Given the description of an element on the screen output the (x, y) to click on. 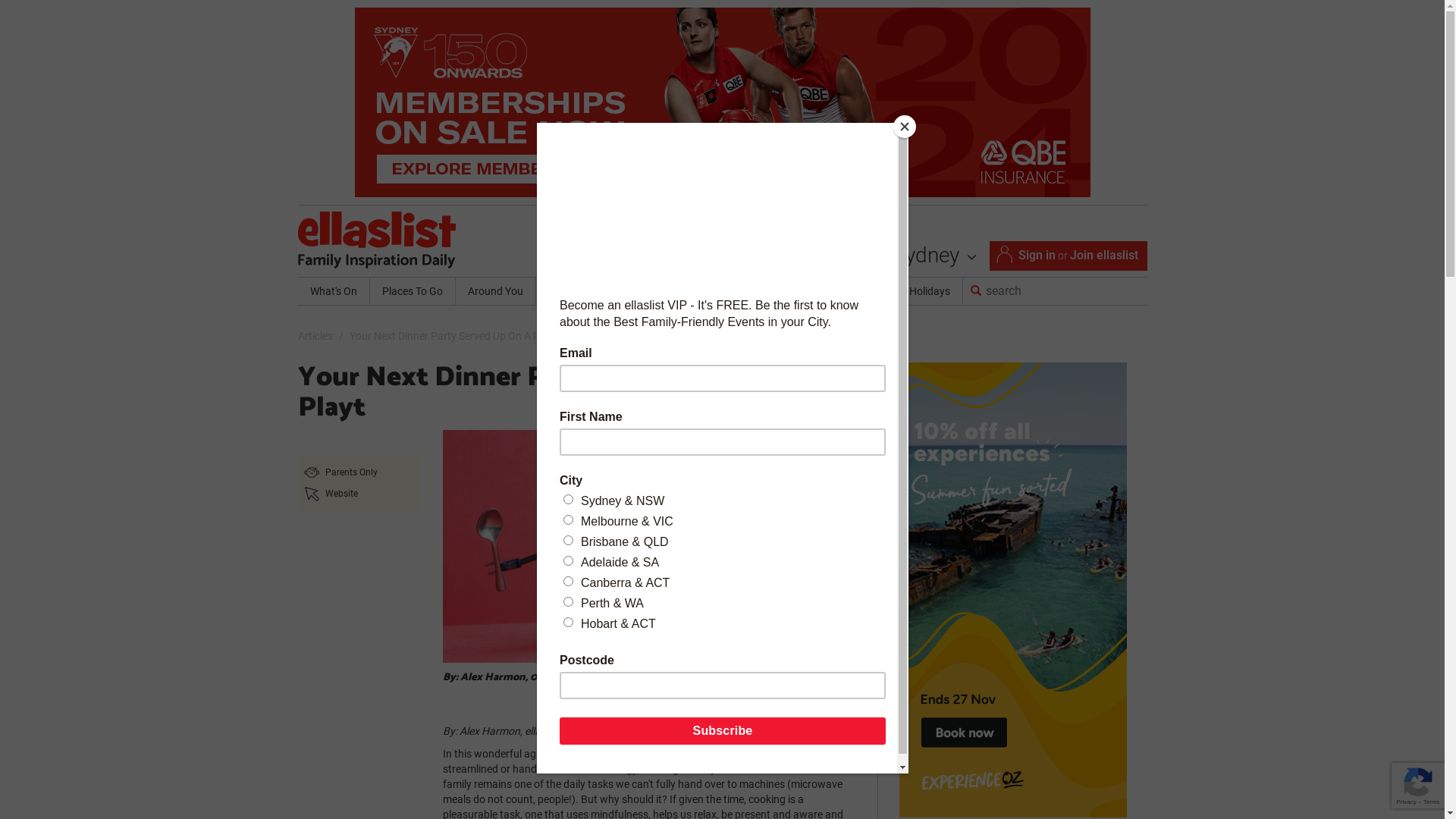
Website Element type: text (340, 493)
Sydney Element type: text (933, 255)
Family Holidays Element type: text (911, 290)
Sensory-Friendly Element type: text (810, 290)
Join ellaslist Element type: text (1103, 254)
3rd party ad content Element type: hover (722, 102)
Around You Element type: text (494, 290)
Kids Classes Element type: text (576, 290)
Articles Element type: text (314, 335)
Sign in Element type: text (1035, 254)
What's On Element type: text (332, 290)
Schools Element type: text (650, 290)
Places To Go Element type: text (412, 290)
3rd party ad content Element type: hover (1012, 589)
Best Reads Element type: text (720, 290)
